Given the description of an element on the screen output the (x, y) to click on. 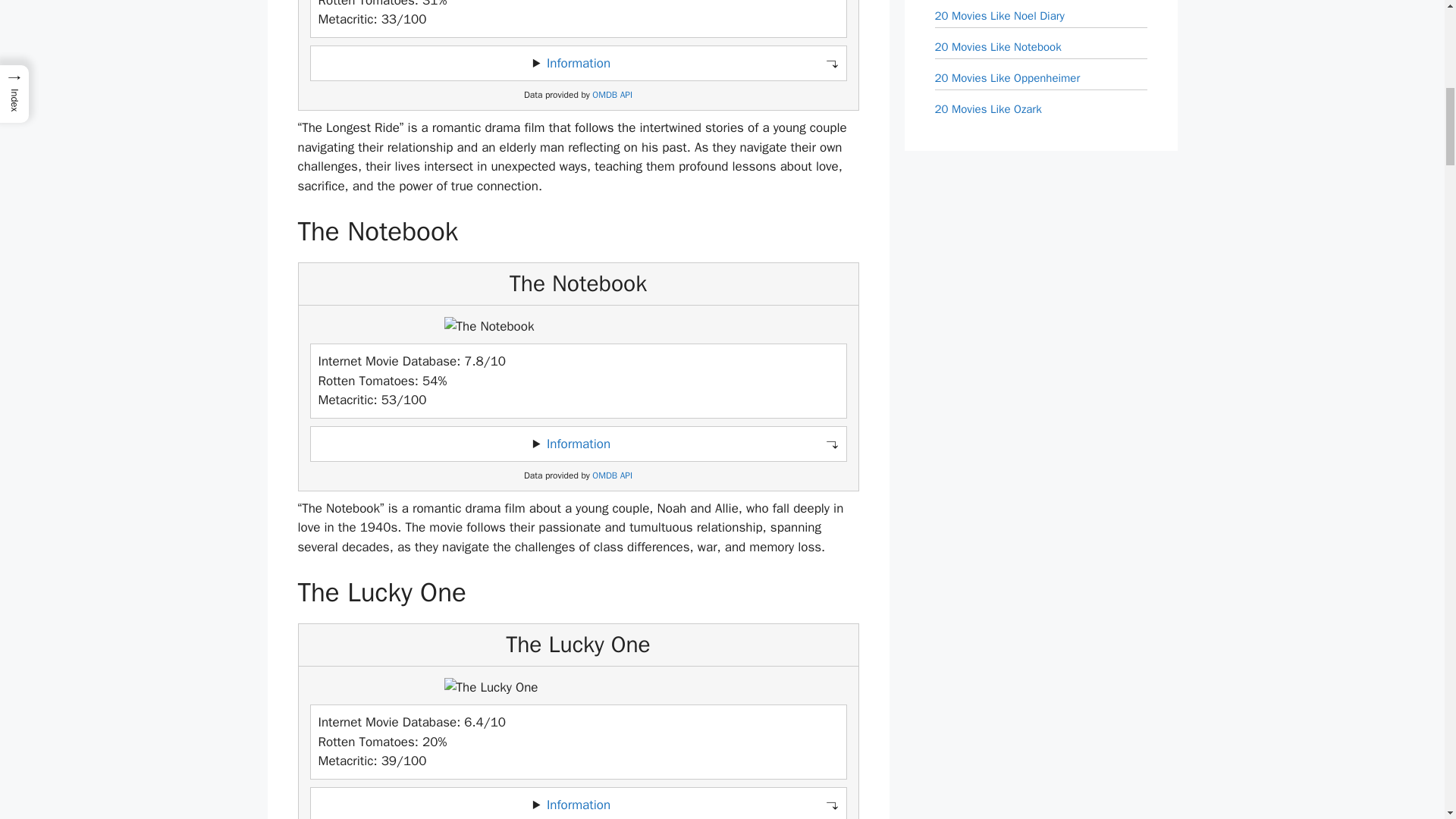
OMDB API (611, 94)
Open Movie Database API (611, 94)
OMDB API (611, 475)
Information (578, 804)
Toggle information (578, 803)
Open Movie Database API (611, 475)
Information (578, 442)
Toggle information (578, 63)
Toggle information (578, 443)
Information (578, 63)
